Given the description of an element on the screen output the (x, y) to click on. 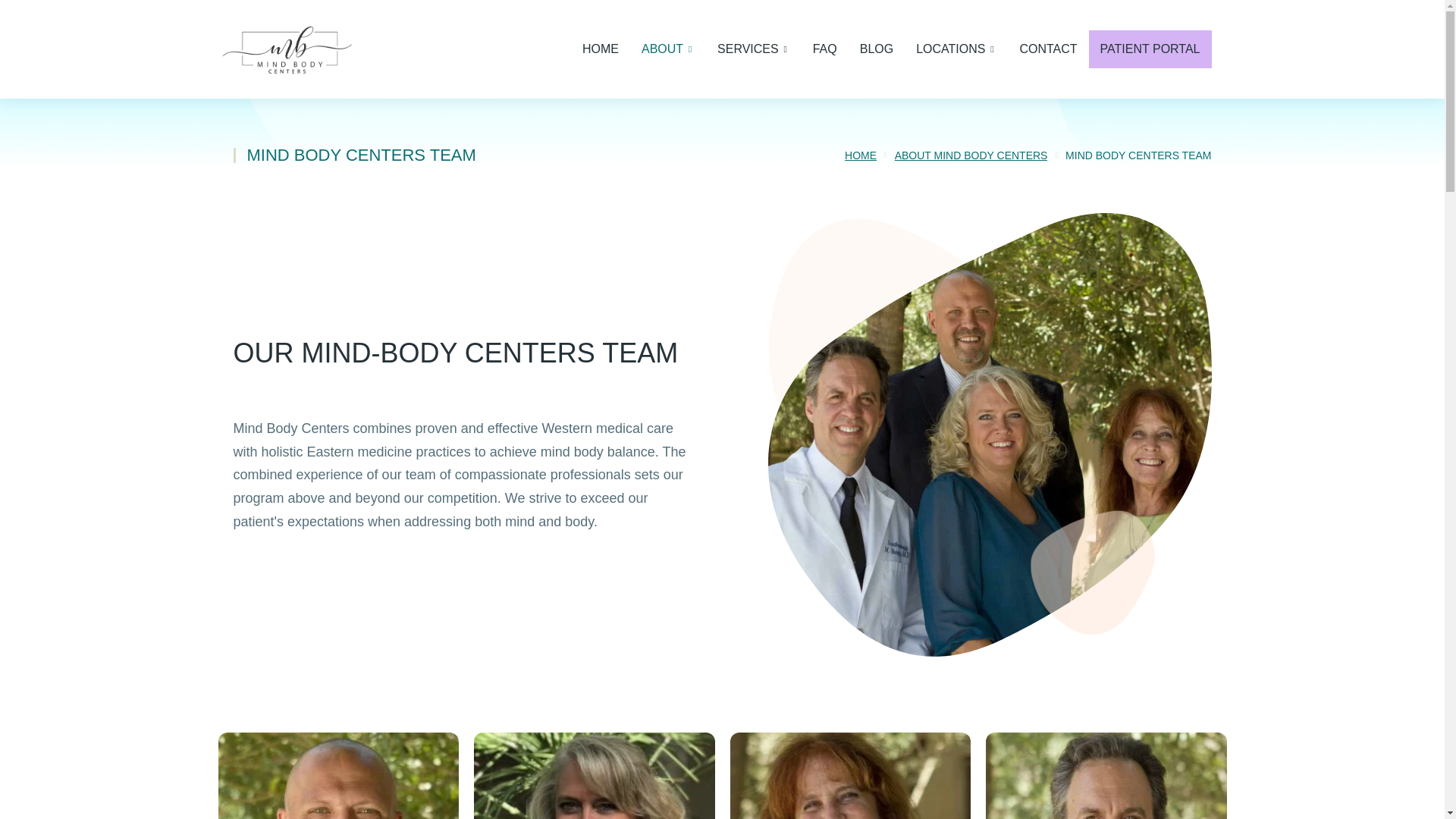
LOCATIONS (955, 48)
CONTACT (1048, 48)
FAQ (824, 48)
About Mind Body Centers (971, 155)
ABOUT (668, 48)
Home (860, 155)
HOME (600, 48)
BLOG (876, 48)
SERVICES (753, 48)
PATIENT PORTAL (1149, 48)
